Given the description of an element on the screen output the (x, y) to click on. 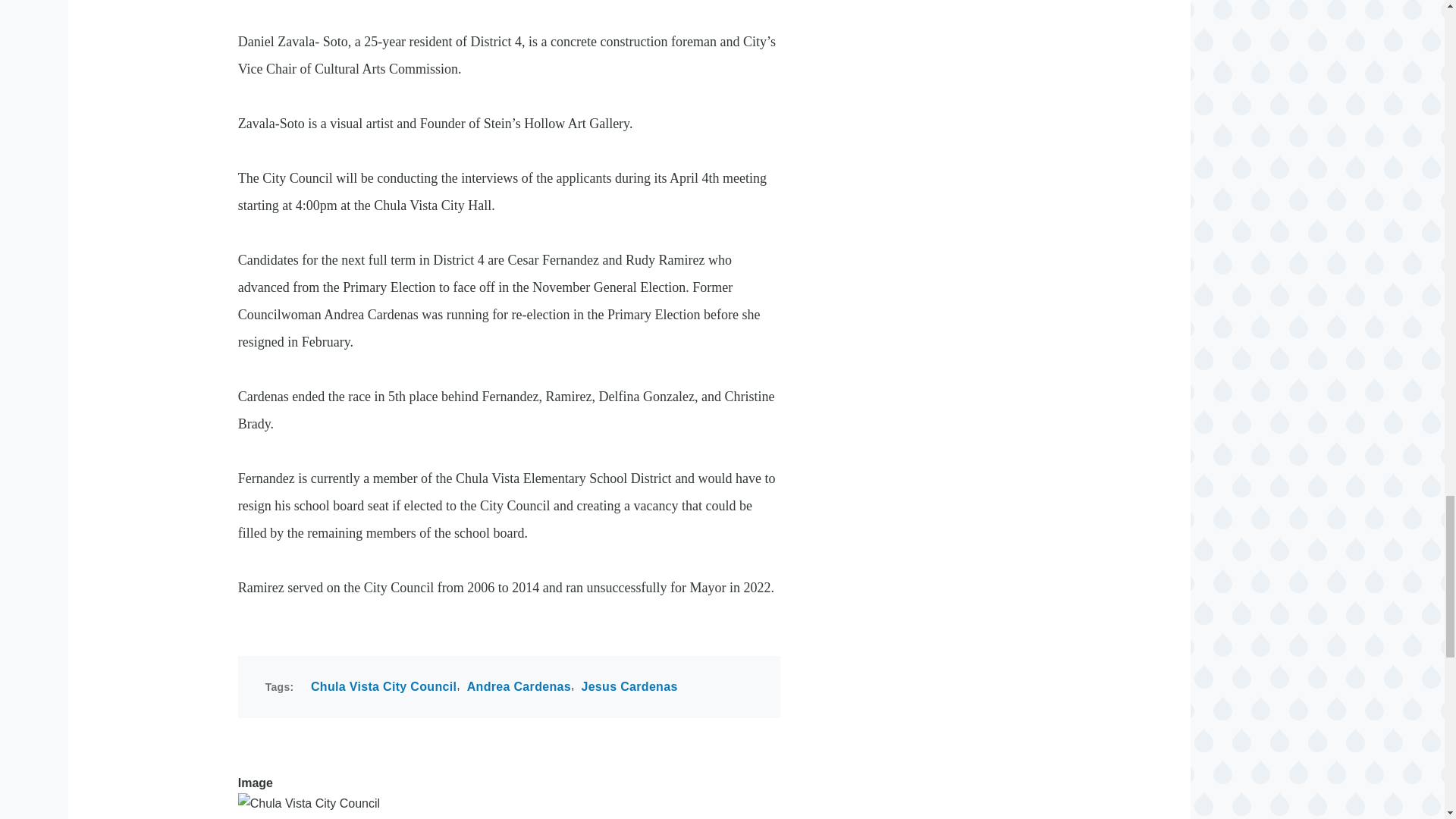
Andrea Cardenas (518, 686)
Jesus Cardenas (628, 686)
Chula Vista City Council (384, 686)
